Given the description of an element on the screen output the (x, y) to click on. 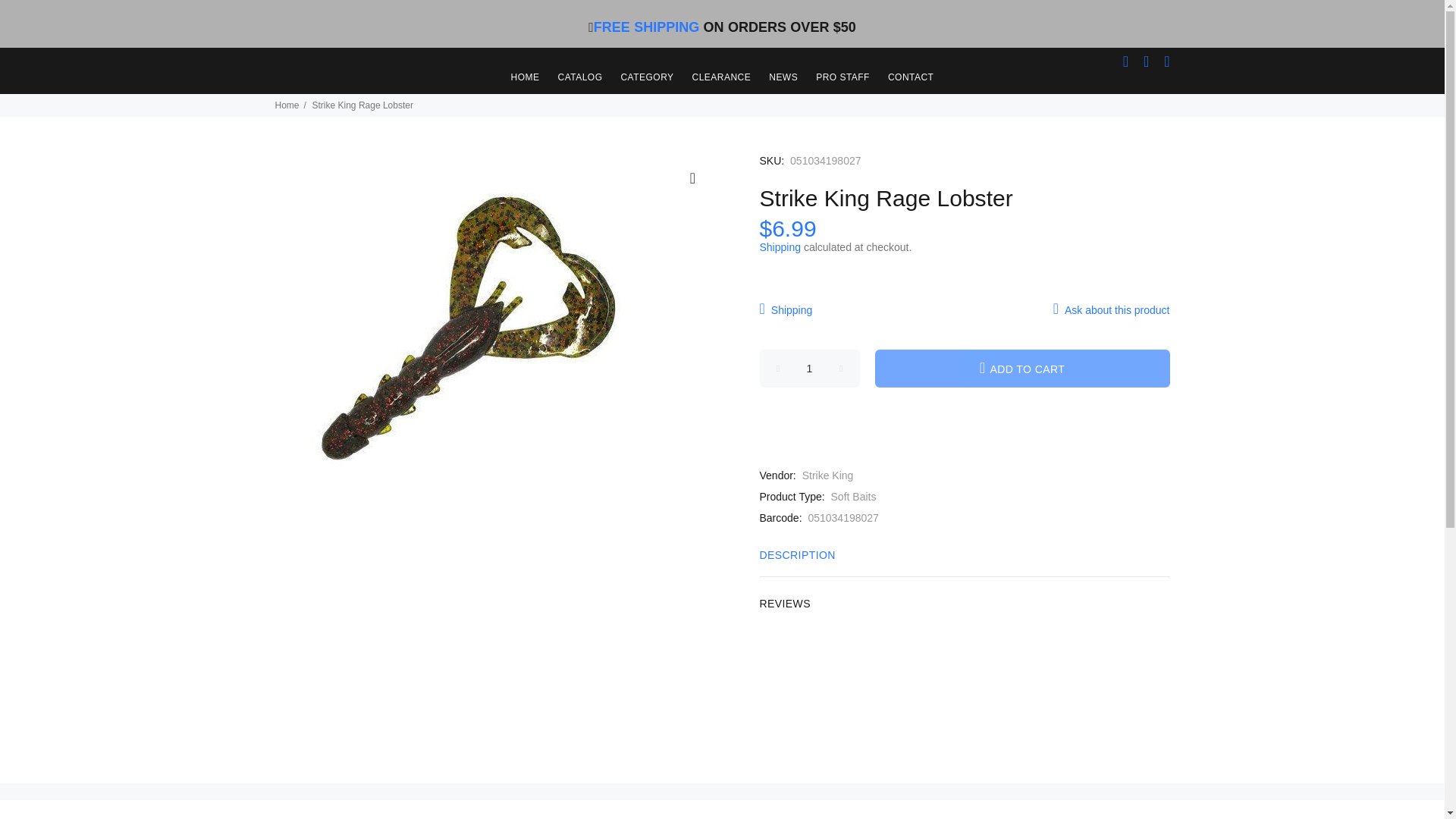
1 (810, 368)
